Given the description of an element on the screen output the (x, y) to click on. 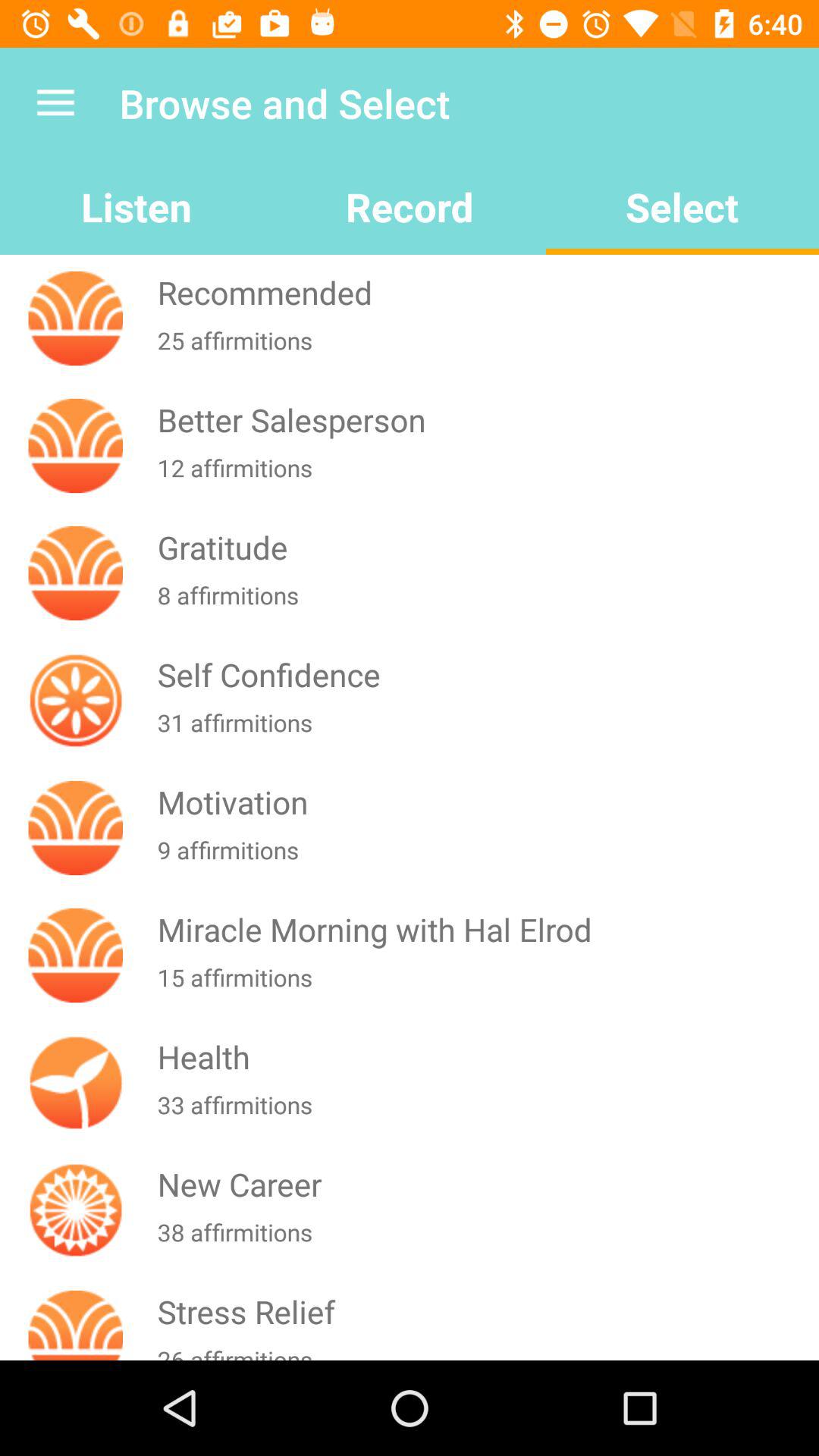
swipe to the new career (484, 1183)
